Given the description of an element on the screen output the (x, y) to click on. 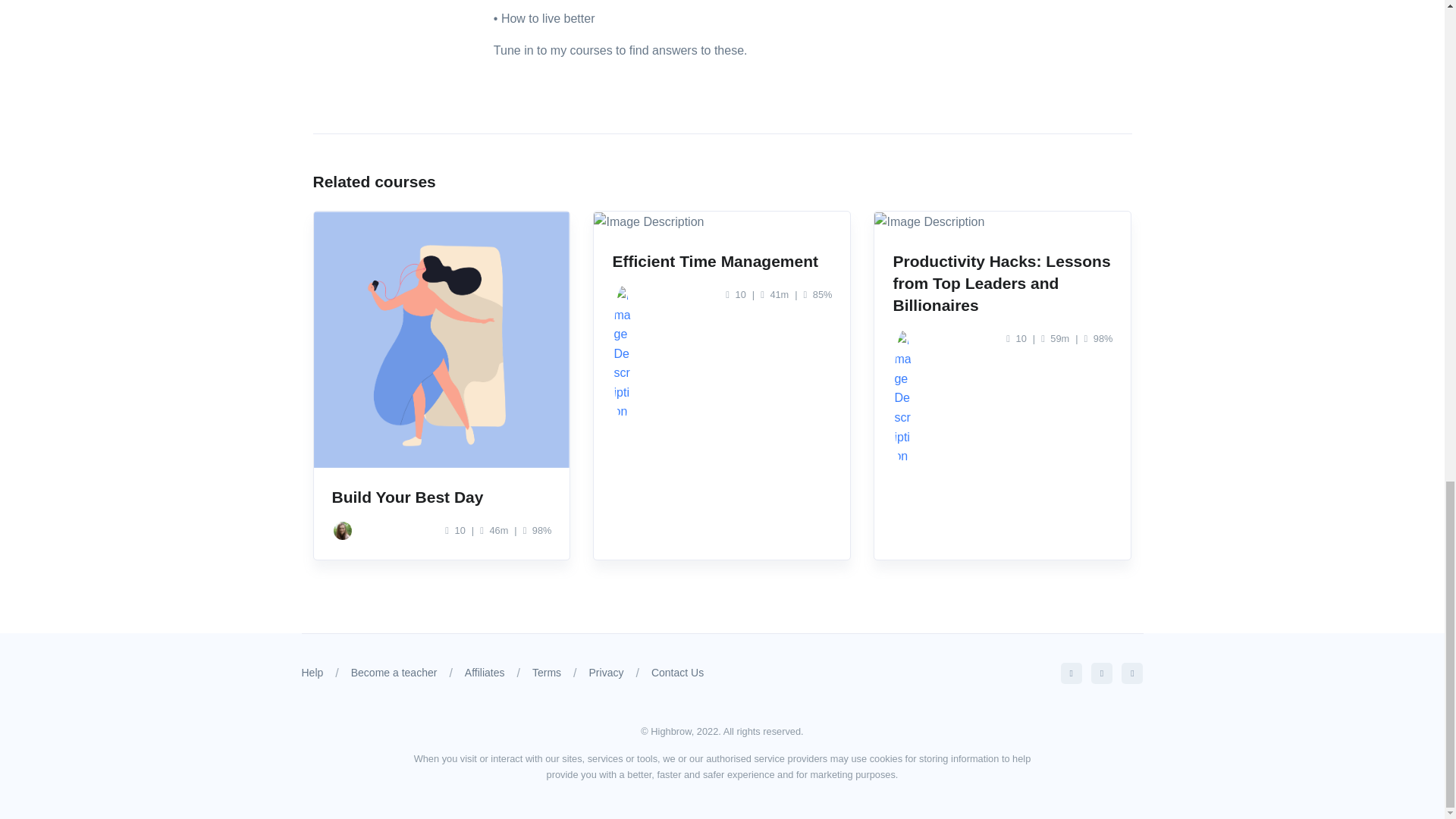
Efficient Time Management (714, 261)
John Robin (903, 339)
Become a teacher (394, 672)
Privacy (606, 672)
Affiliates (484, 672)
Build Your Best Day (407, 497)
Terms (546, 672)
Contact Us (676, 672)
Dr. Kimberlee Bonura (342, 530)
